Given the description of an element on the screen output the (x, y) to click on. 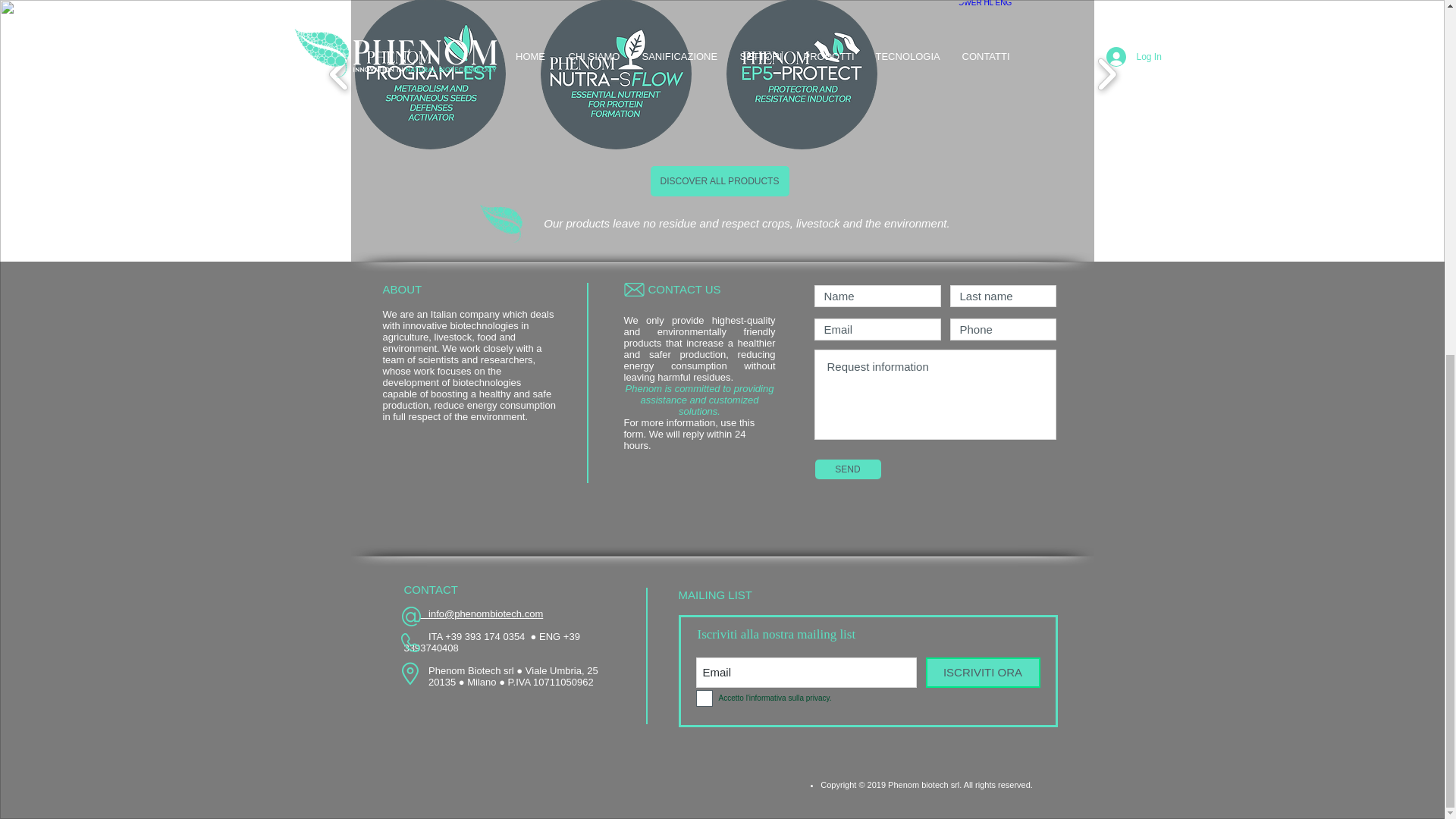
SEND (846, 469)
DISCOVER ALL PRODUCTS (719, 181)
ISCRIVITI ORA (981, 672)
